Given the description of an element on the screen output the (x, y) to click on. 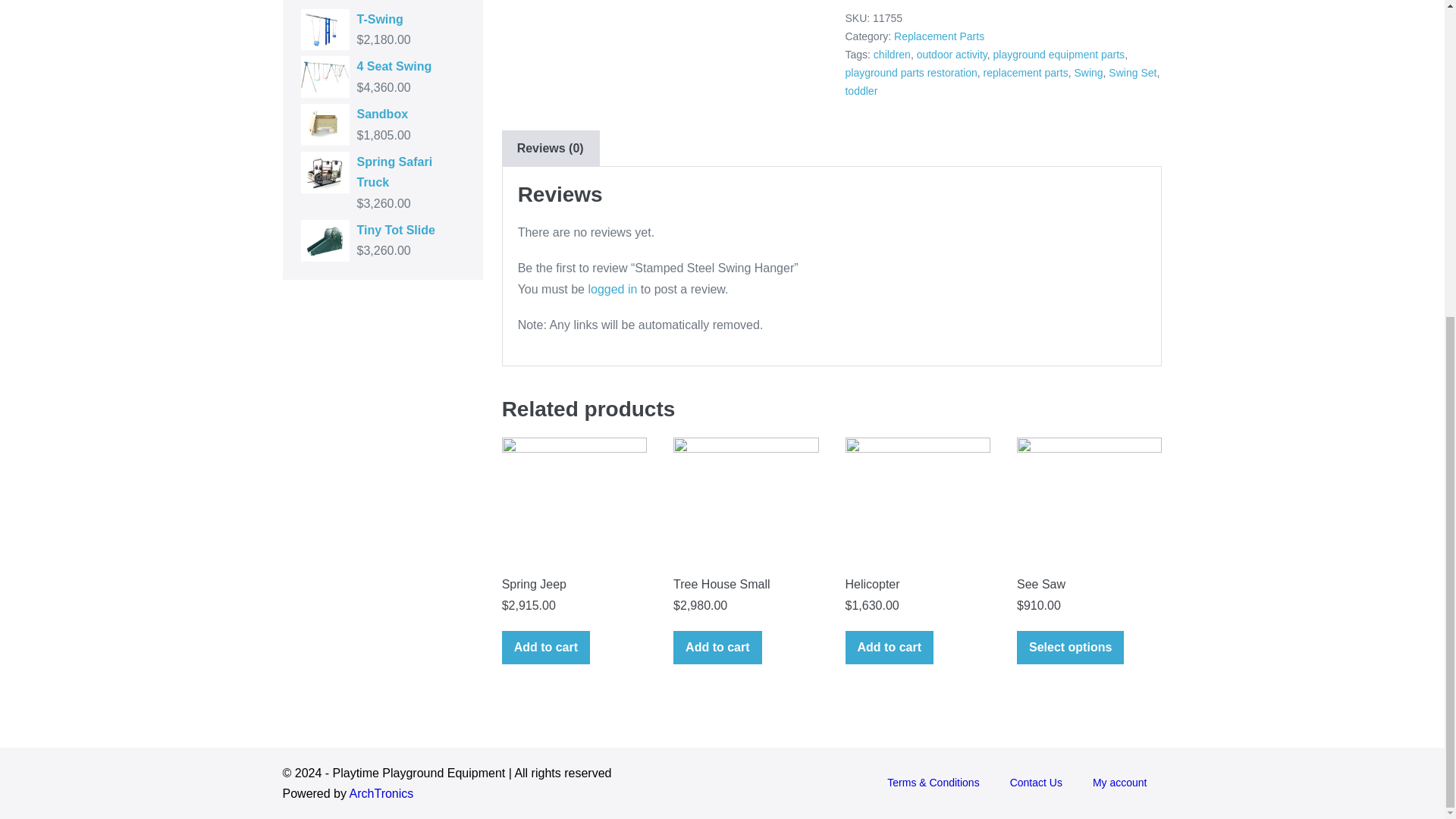
Spring Safari Truck (382, 171)
Replacement Parts (938, 36)
Tiny Tot Slide (382, 230)
children (892, 54)
4 Seat Swing (382, 66)
T-Swing (382, 19)
outdoor activity (952, 54)
Sandbox (382, 114)
